Given the description of an element on the screen output the (x, y) to click on. 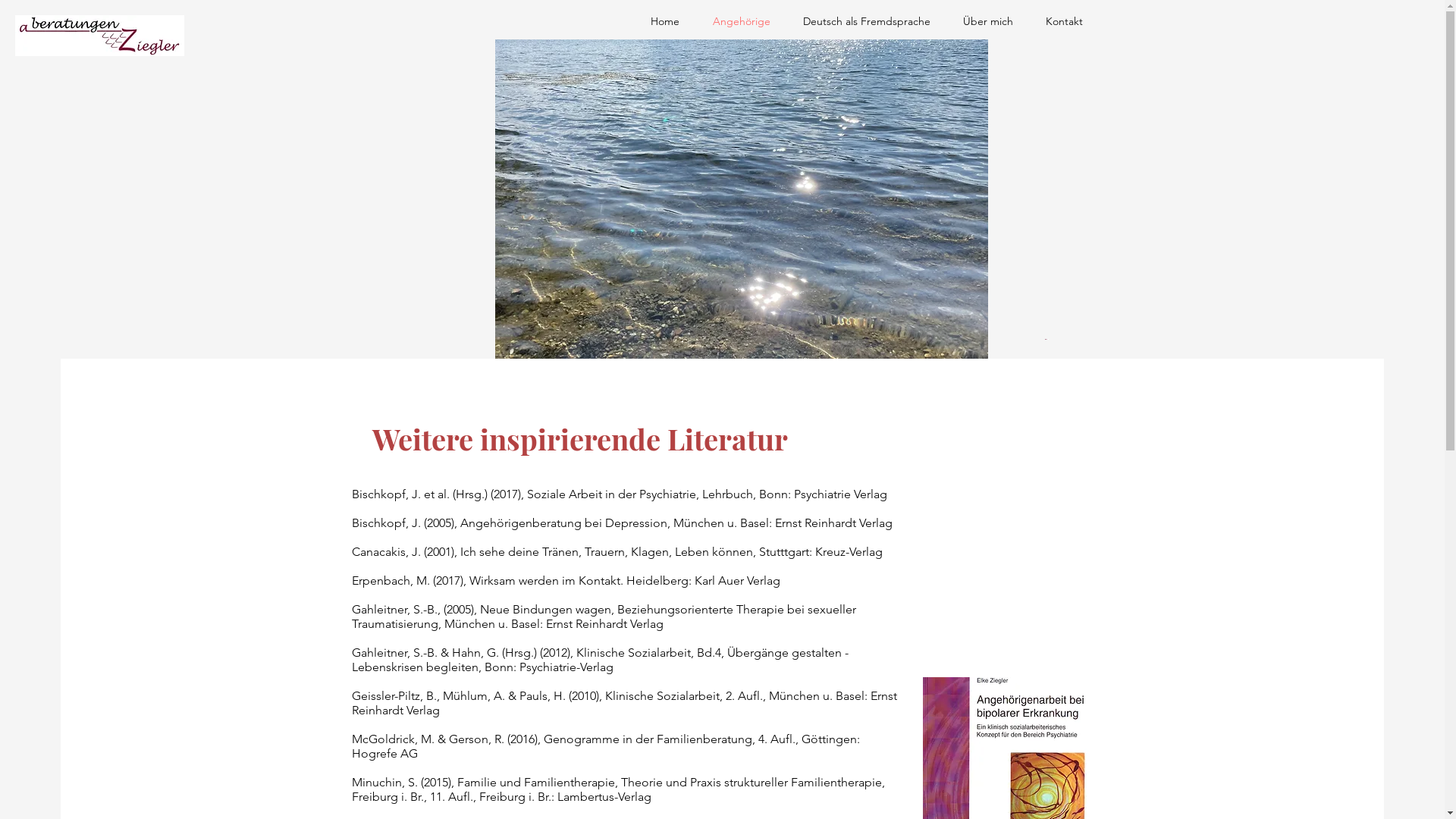
IMG_4938_edited.jpg Element type: hover (740, 198)
Kontakt Element type: text (1058, 21)
TXT.rtf Element type: text (878, 135)
Home Element type: text (659, 21)
Deutsch als Fremdsprache Element type: text (861, 21)
Logo Elke Ziegler.jpg Element type: hover (1046, 337)
